Given the description of an element on the screen output the (x, y) to click on. 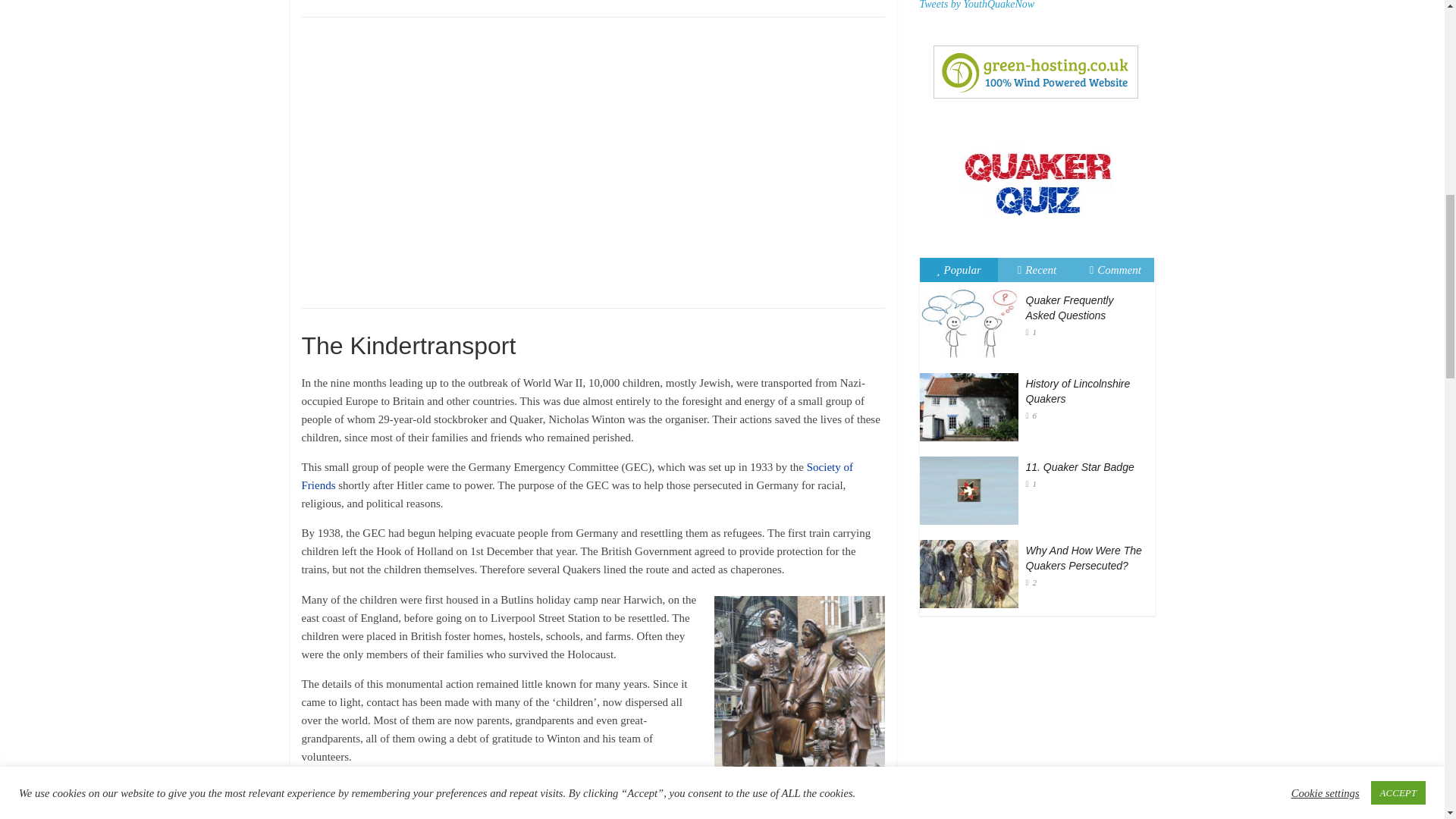
Recent (1037, 269)
Quaker Frequently Asked Questions (967, 323)
Popular (958, 269)
History of Lincolnshire Quakers (967, 407)
History of Lincolnshire Quakers (971, 373)
Quaker Frequently Asked Questions (971, 289)
Tweets by YouthQuakeNow (975, 4)
Society of Friends (577, 476)
History of Lincolnshire Quakers (1077, 390)
Quaker Frequently Asked Questions (1069, 307)
